Given the description of an element on the screen output the (x, y) to click on. 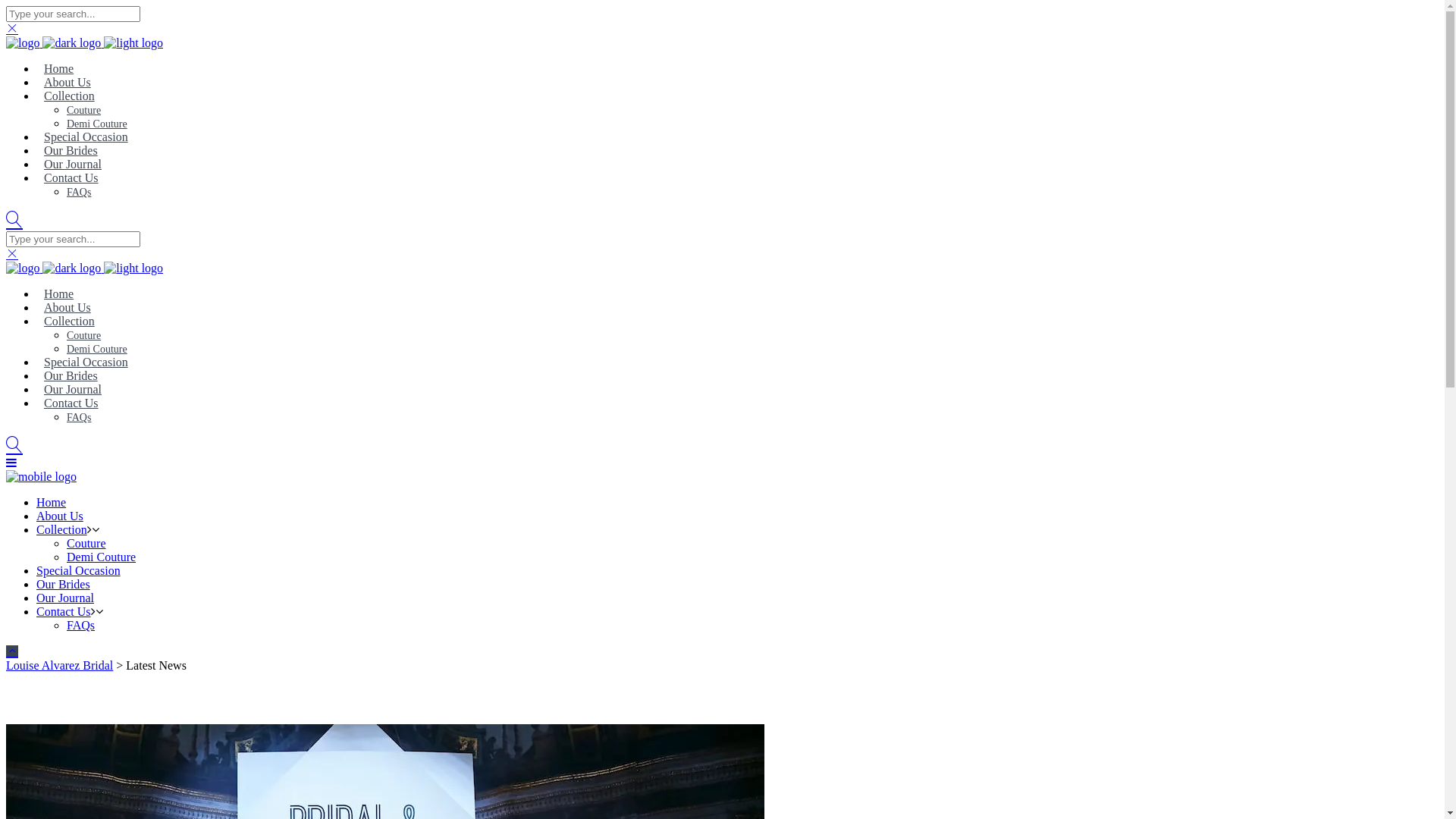
About Us Element type: text (67, 81)
Demi Couture Element type: text (96, 123)
Our Brides Element type: text (63, 583)
About Us Element type: text (59, 515)
Our Brides Element type: text (70, 375)
Home Element type: text (58, 293)
Contact Us Element type: text (63, 611)
Couture Element type: text (83, 110)
Special Occasion Element type: text (78, 570)
Home Element type: text (50, 501)
Contact Us Element type: text (71, 402)
FAQs Element type: text (78, 191)
Demi Couture Element type: text (96, 348)
Our Journal Element type: text (65, 597)
Collection Element type: text (69, 320)
Louise Alvarez Bridal Element type: text (59, 664)
Our Journal Element type: text (72, 163)
Demi Couture Element type: text (100, 556)
Home Element type: text (58, 68)
Contact Us Element type: text (71, 177)
Collection Element type: text (61, 529)
Collection Element type: text (69, 95)
Special Occasion Element type: text (85, 136)
About Us Element type: text (67, 307)
Special Occasion Element type: text (85, 361)
Our Brides Element type: text (70, 150)
Couture Element type: text (83, 335)
Couture Element type: text (86, 542)
Our Journal Element type: text (72, 388)
FAQs Element type: text (80, 624)
FAQs Element type: text (78, 417)
